Given the description of an element on the screen output the (x, y) to click on. 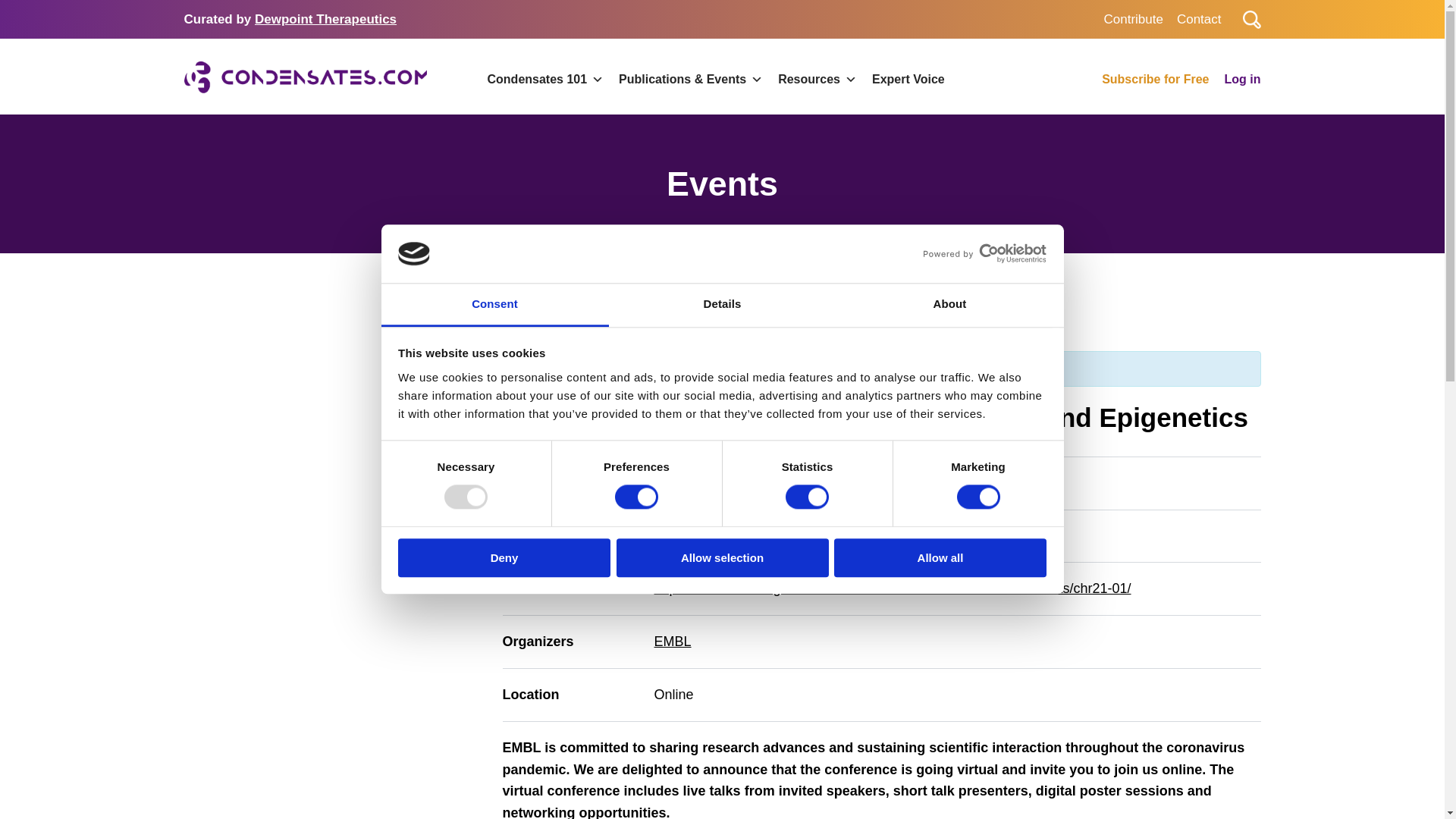
About (948, 304)
Details (721, 304)
Consent (494, 304)
Deny (503, 557)
Allow selection (721, 557)
EMBL (675, 641)
